Given the description of an element on the screen output the (x, y) to click on. 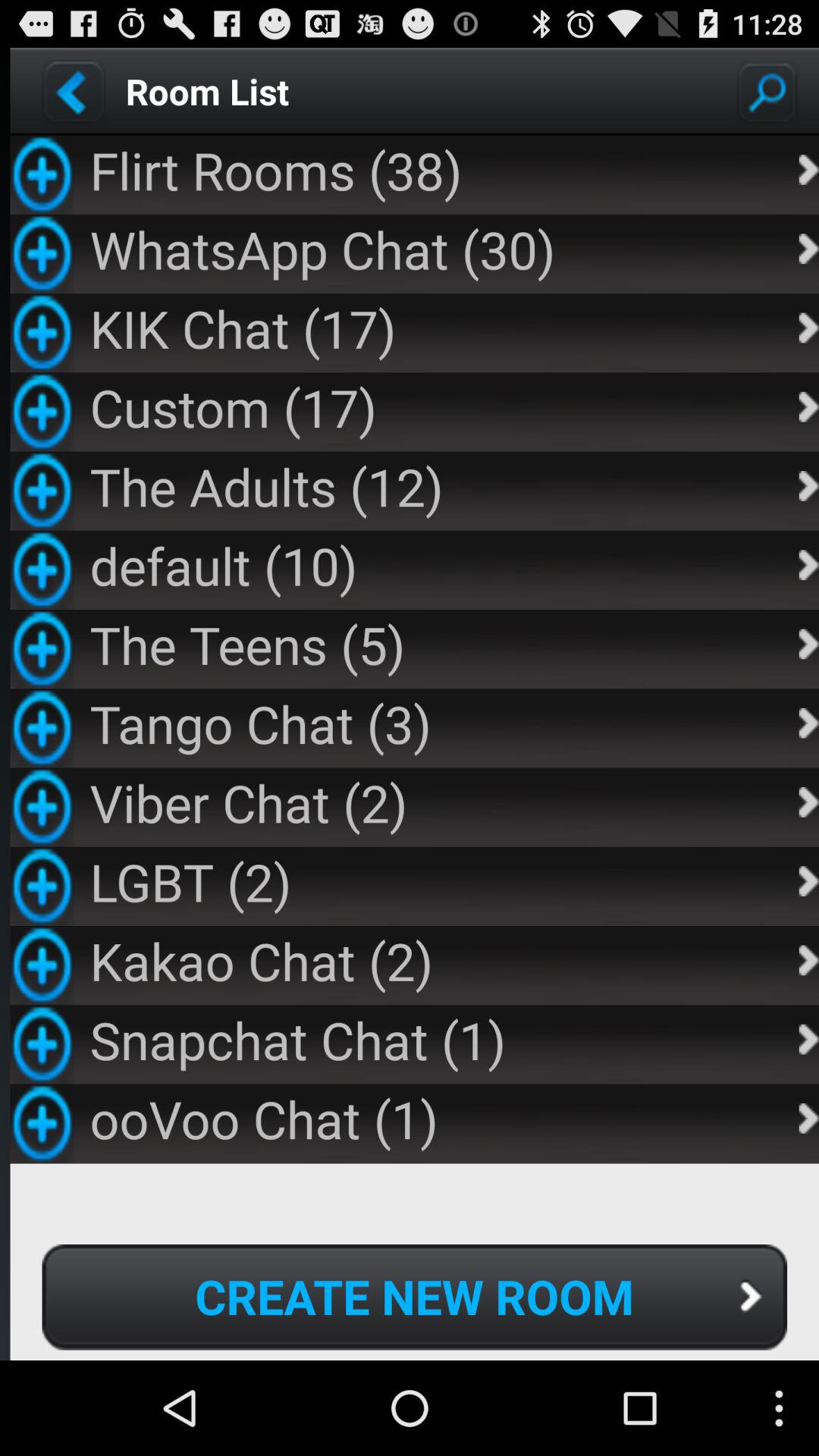
scroll to the create new room (414, 1297)
